Given the description of an element on the screen output the (x, y) to click on. 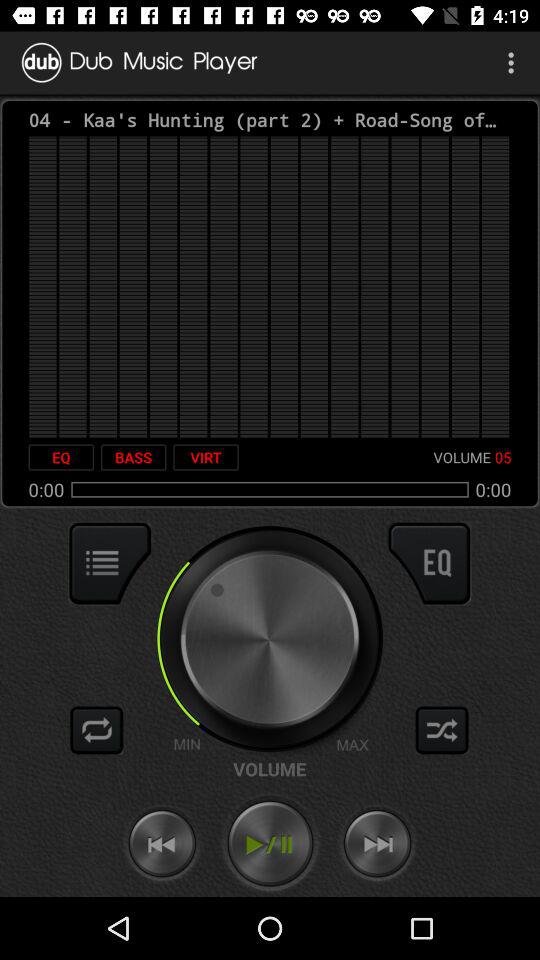
tap the icon next to   eq (133, 457)
